Given the description of an element on the screen output the (x, y) to click on. 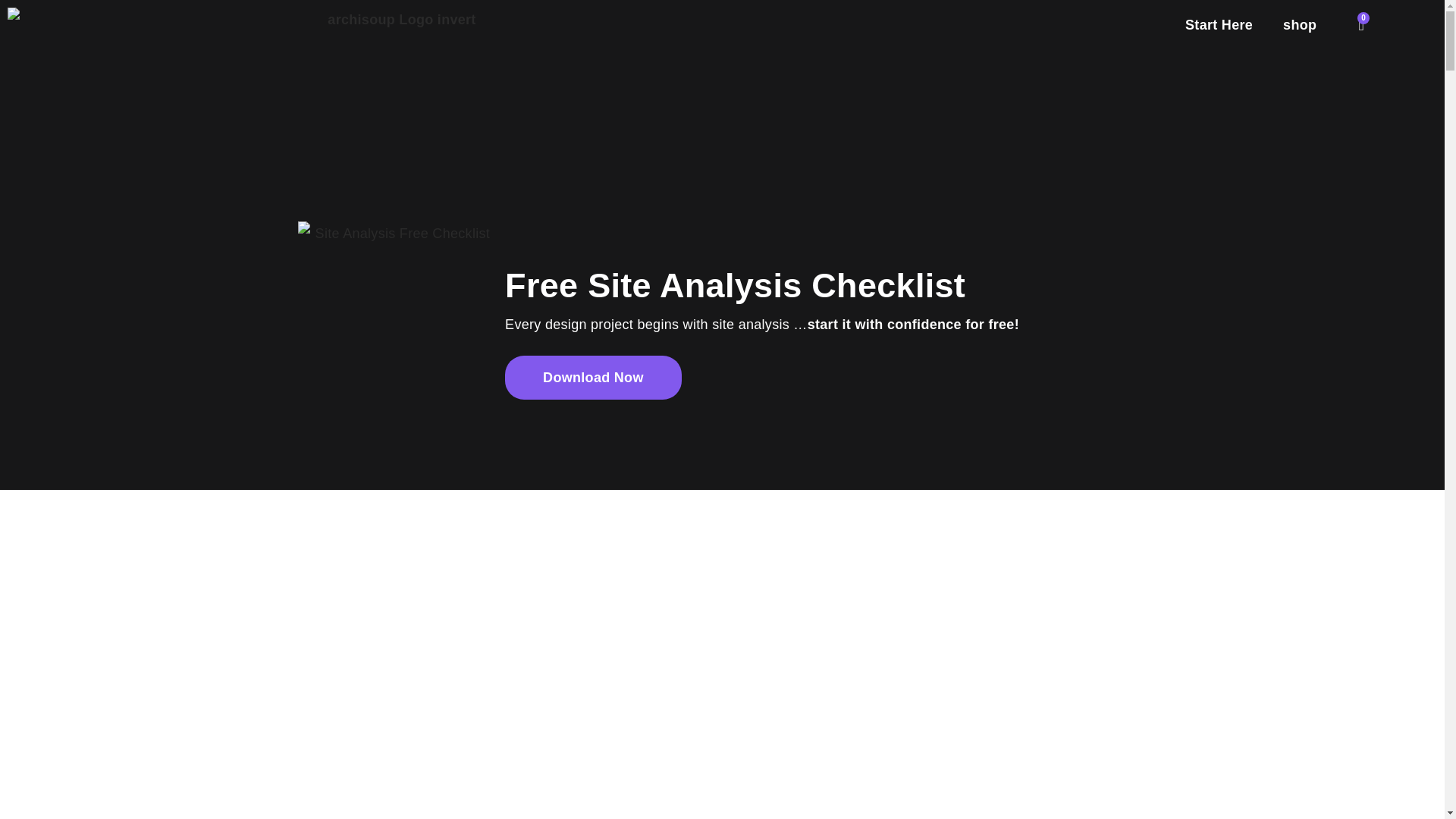
shop (1300, 24)
0 (1361, 24)
Start Here (1219, 24)
Download Now (593, 377)
